Given the description of an element on the screen output the (x, y) to click on. 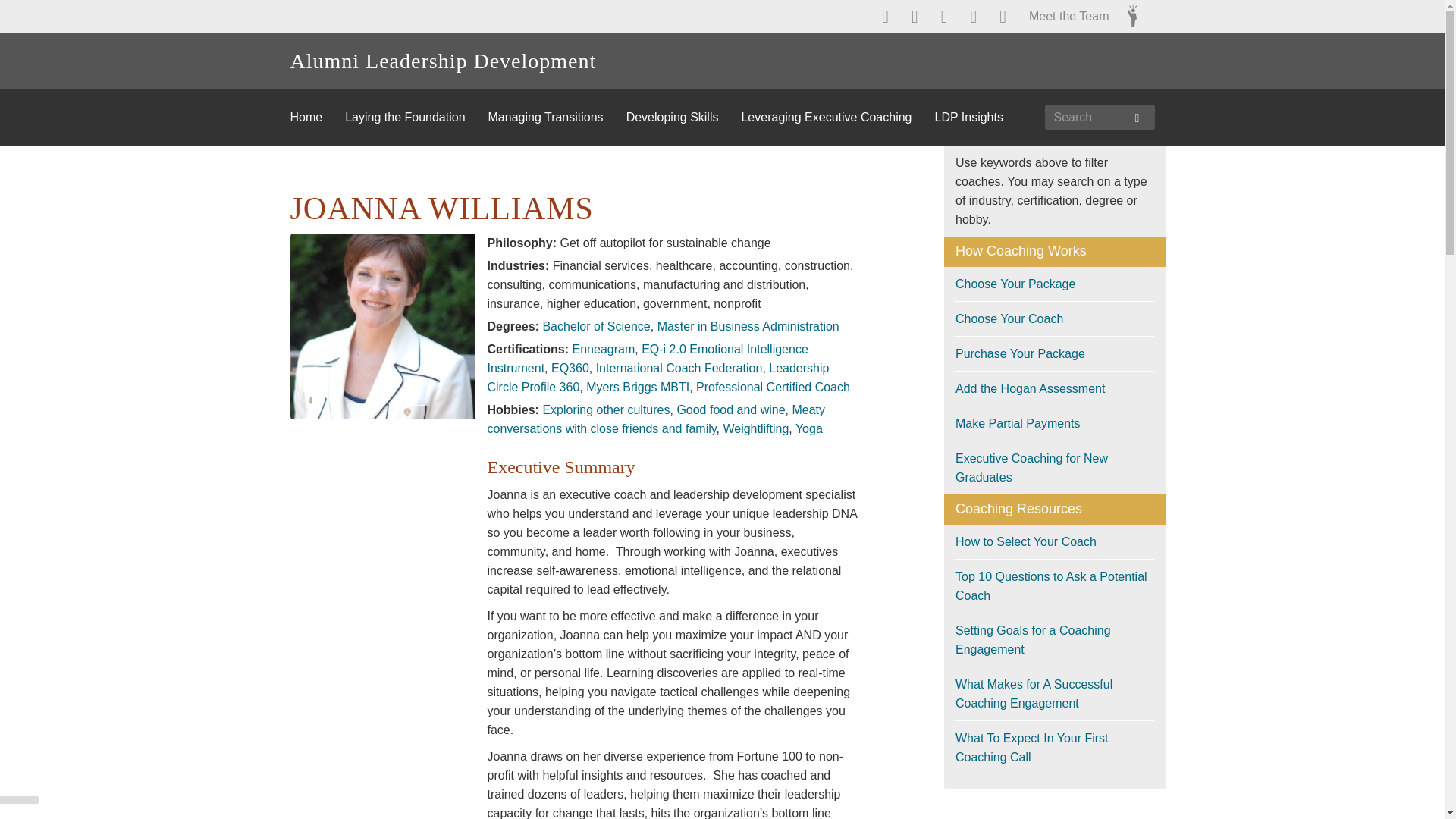
Y2 (1131, 13)
Master in Business Administration (749, 326)
Laying the Foundation (416, 117)
Alumni Leadership Development (442, 60)
Managing Transitions (556, 117)
Bachelor of Science (595, 326)
Home (317, 117)
Leveraging Executive Coaching (837, 117)
Meet the Team (1057, 16)
Developing Skills (683, 117)
